Given the description of an element on the screen output the (x, y) to click on. 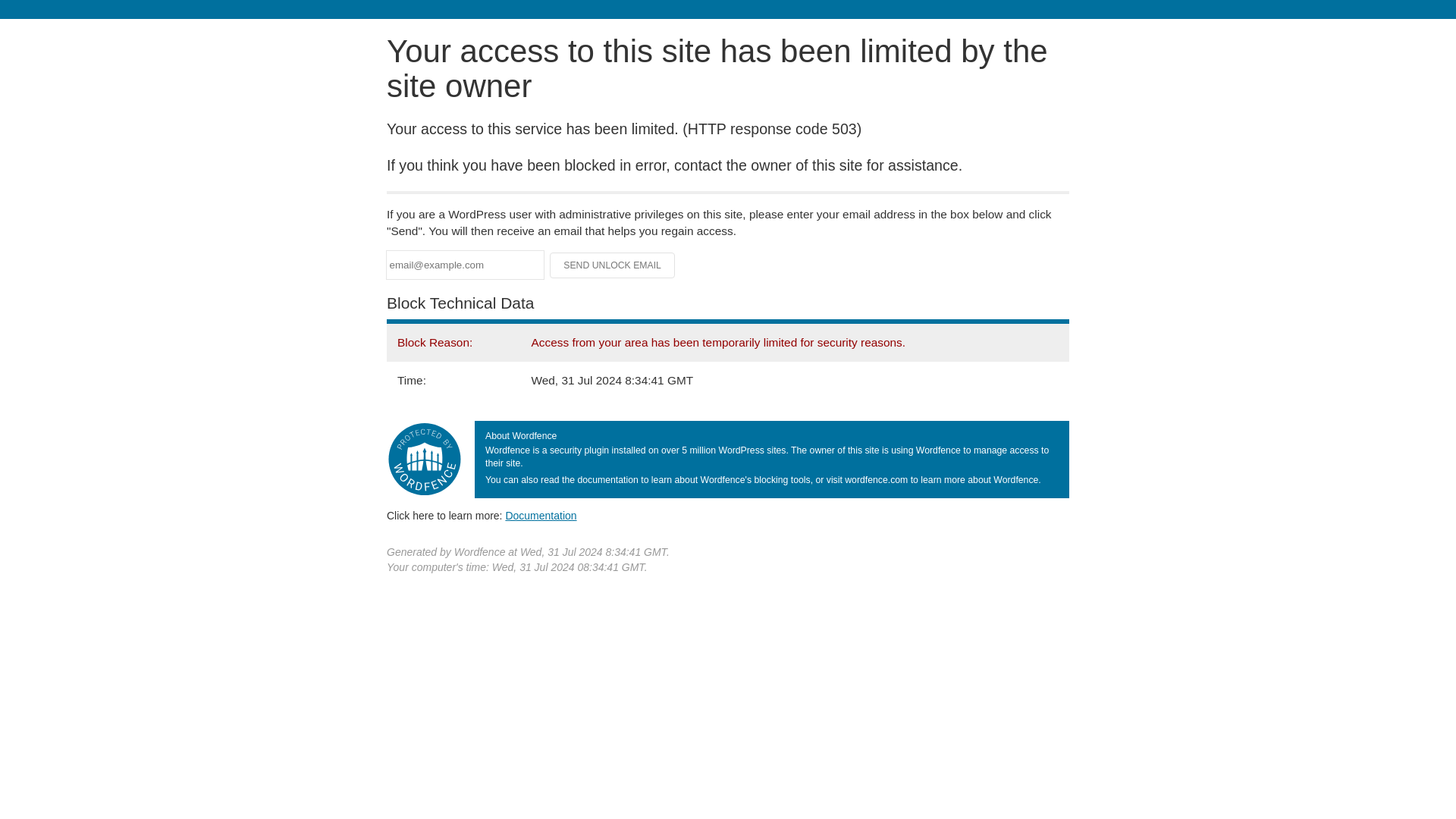
Send Unlock Email (612, 265)
Send Unlock Email (612, 265)
Documentation (540, 515)
